Given the description of an element on the screen output the (x, y) to click on. 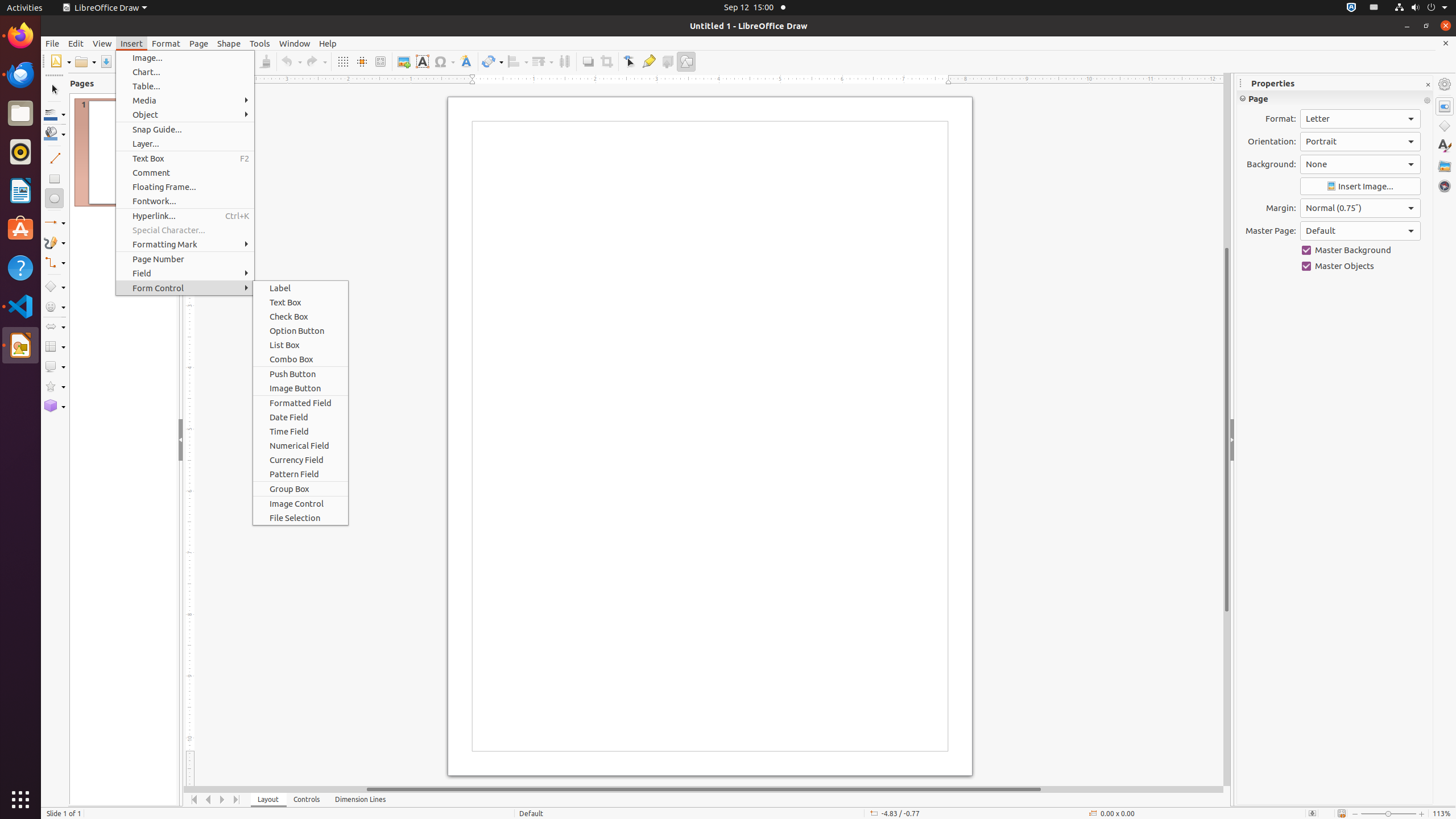
Glue Points Element type: push-button (648, 61)
Pattern Field Element type: check-menu-item (300, 473)
Controls Element type: page-tab (307, 799)
Image... Element type: menu-item (185, 57)
Insert Element type: menu (131, 43)
